Given the description of an element on the screen output the (x, y) to click on. 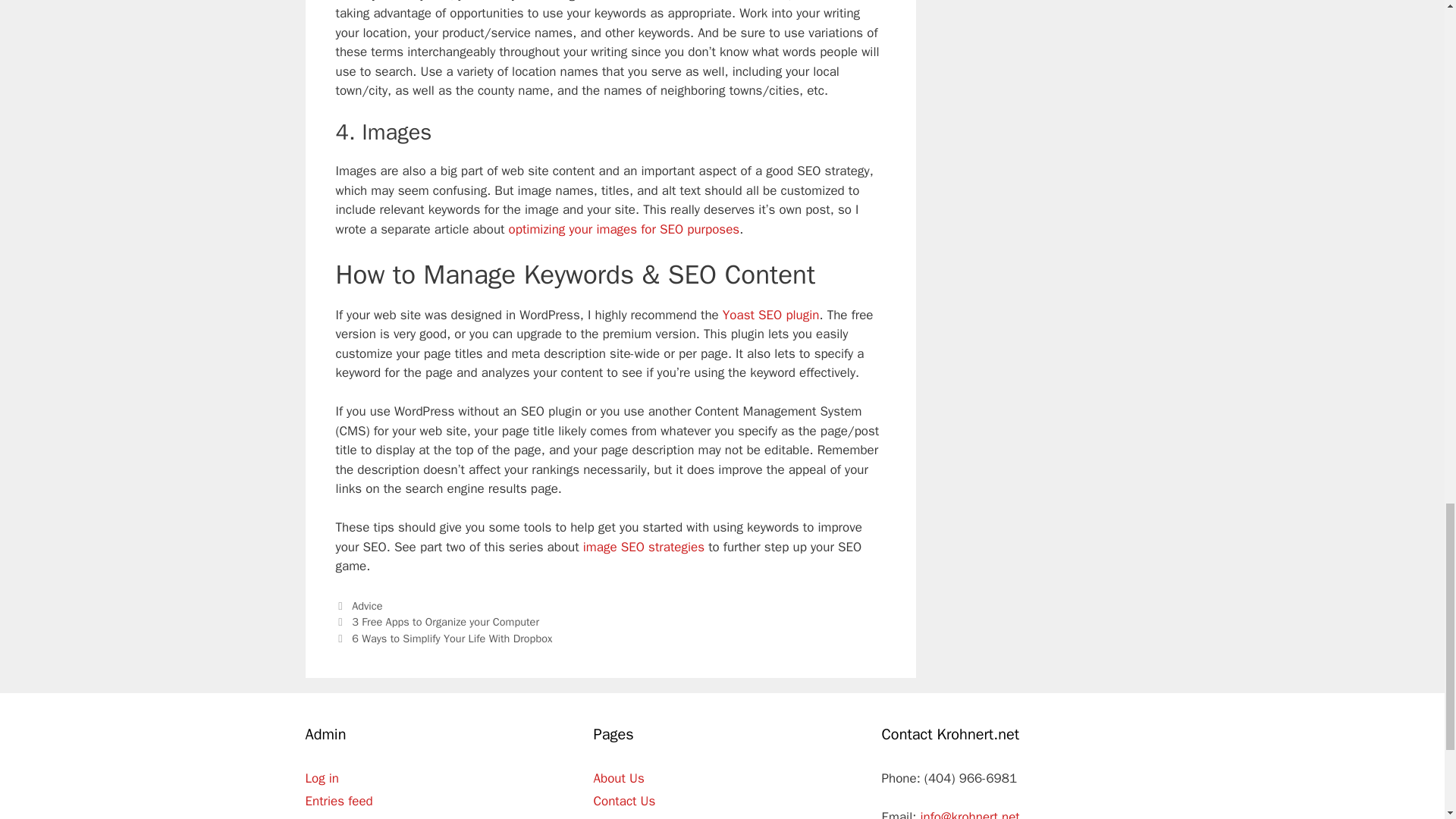
Yoast SEO plugin (770, 314)
Entries feed (338, 801)
image SEO strategies (643, 546)
Advice (366, 605)
Is my web site down? (653, 817)
Contact Us (623, 801)
About Us (617, 778)
Log in (321, 778)
3 Free Apps to Organize your Computer (445, 621)
optimizing your images for SEO purposes (623, 229)
6 Ways to Simplify Your Life With Dropbox (451, 638)
Comments feed (349, 817)
